Given the description of an element on the screen output the (x, y) to click on. 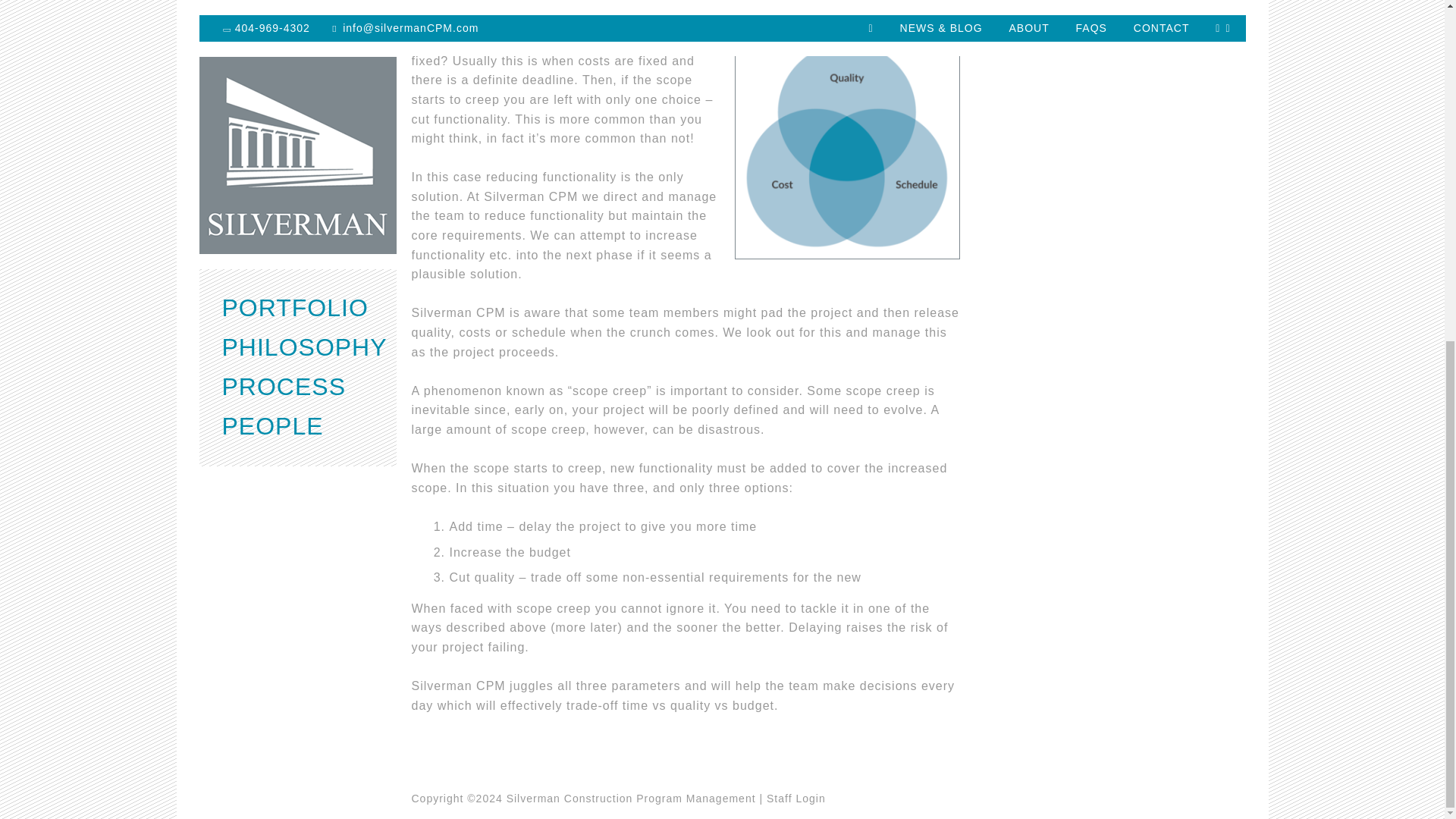
Staff Login (796, 798)
